Given the description of an element on the screen output the (x, y) to click on. 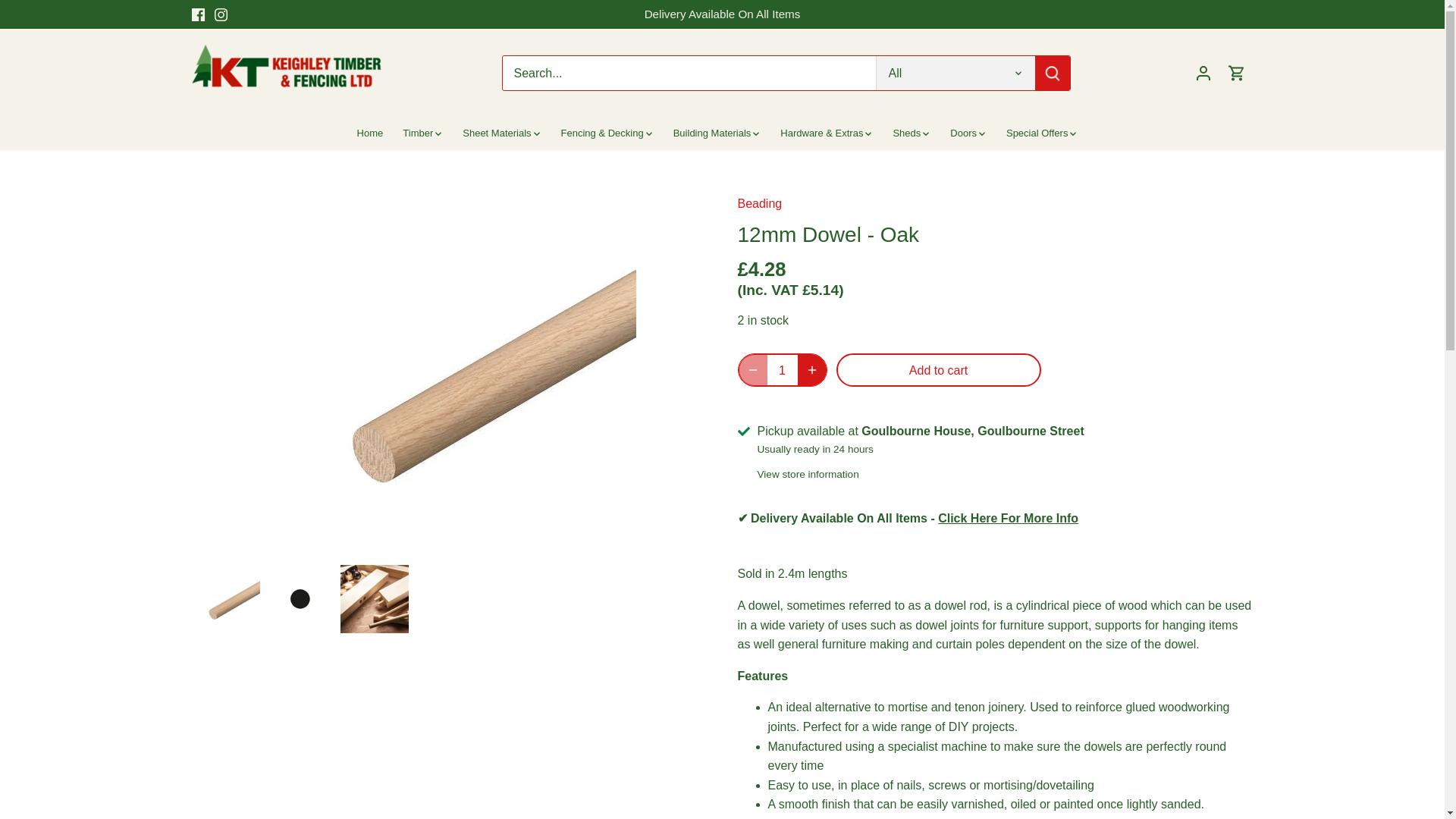
1 (782, 369)
Delivery (1007, 517)
Delivery Available On All Items (722, 13)
Facebook (196, 14)
Timber (417, 133)
Instagram (220, 14)
Home (374, 133)
